Given the description of an element on the screen output the (x, y) to click on. 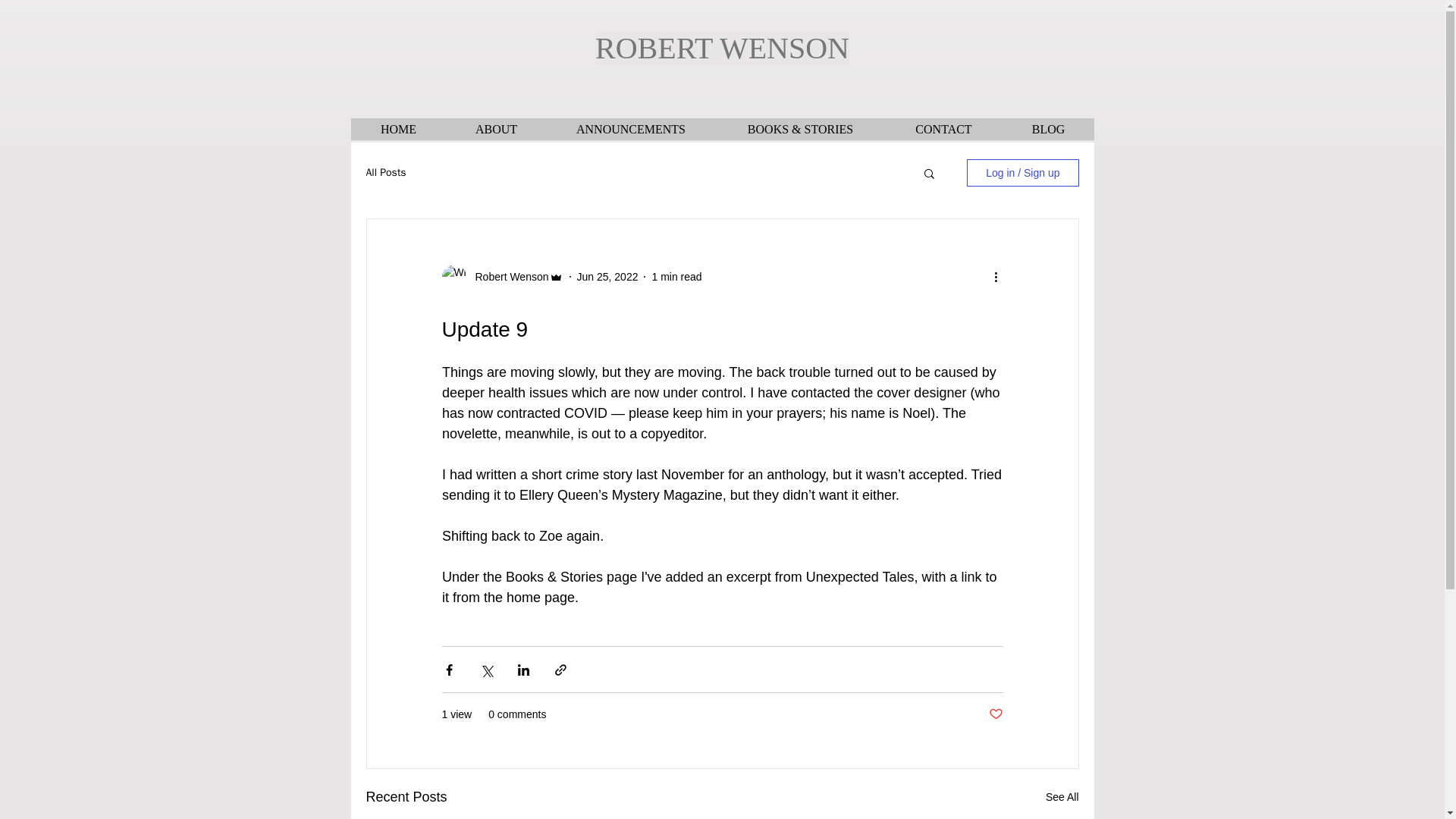
1 min read (675, 275)
Robert Wenson (506, 276)
ANNOUNCEMENTS (631, 128)
See All (1061, 797)
Post not marked as liked (995, 714)
All Posts (385, 172)
BLOG (1048, 128)
ABOUT (494, 128)
HOME (397, 128)
ROBERT WENSON (721, 48)
